Given the description of an element on the screen output the (x, y) to click on. 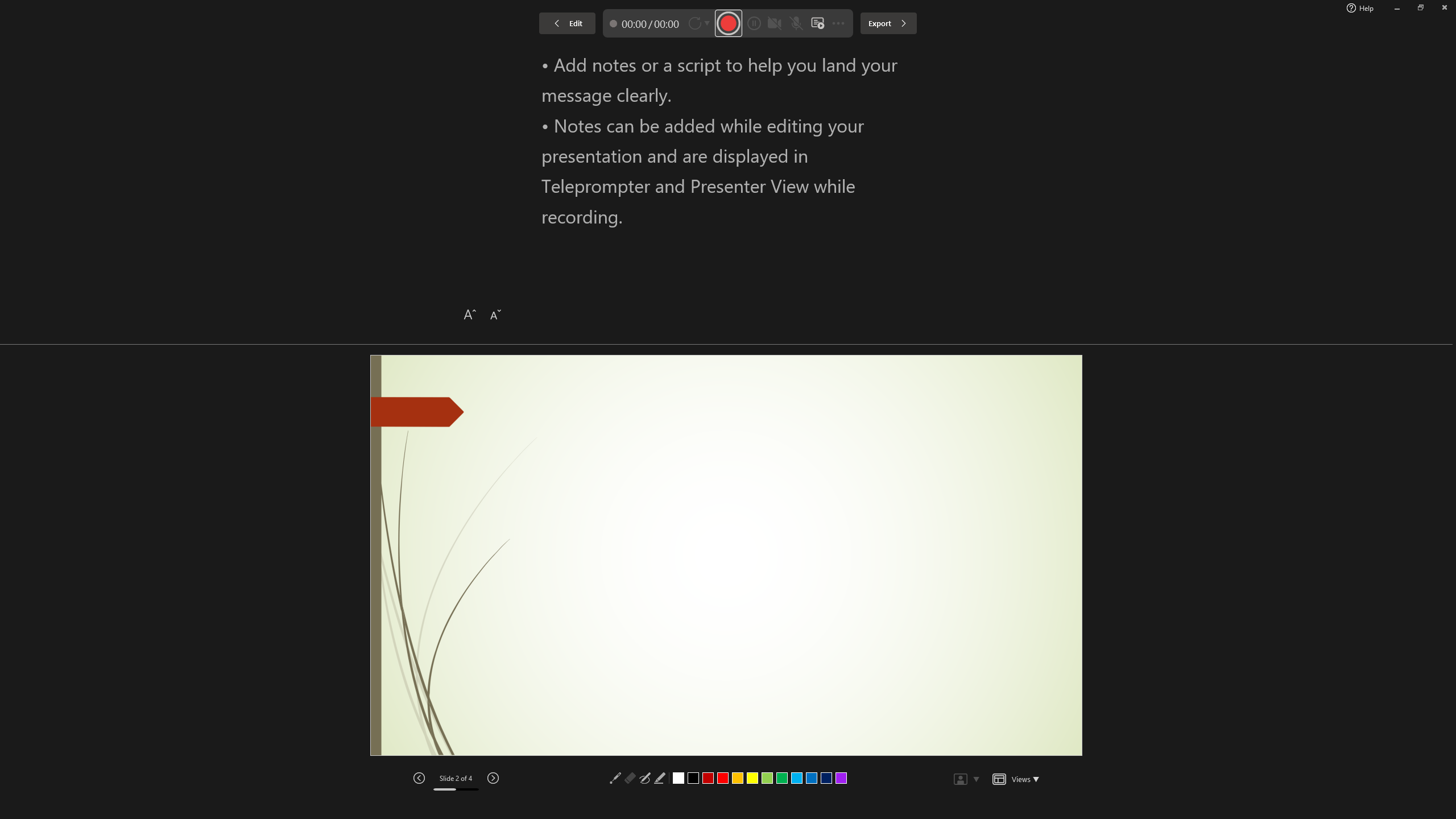
Save as Show (306, 58)
Reset to Cameo (269, 58)
